Given the description of an element on the screen output the (x, y) to click on. 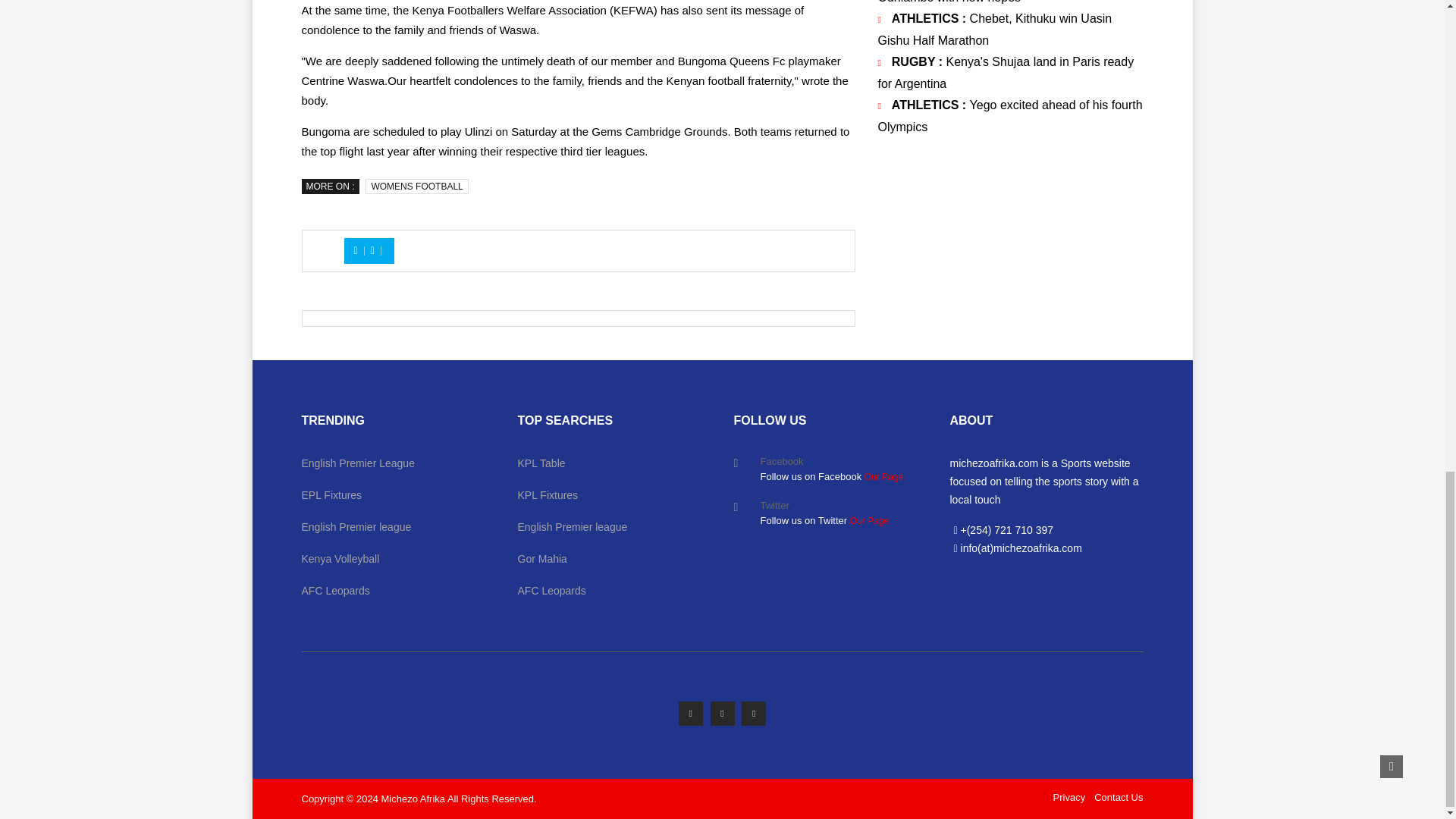
Instagram (753, 713)
Twitter (721, 713)
Facebook (690, 713)
